Given the description of an element on the screen output the (x, y) to click on. 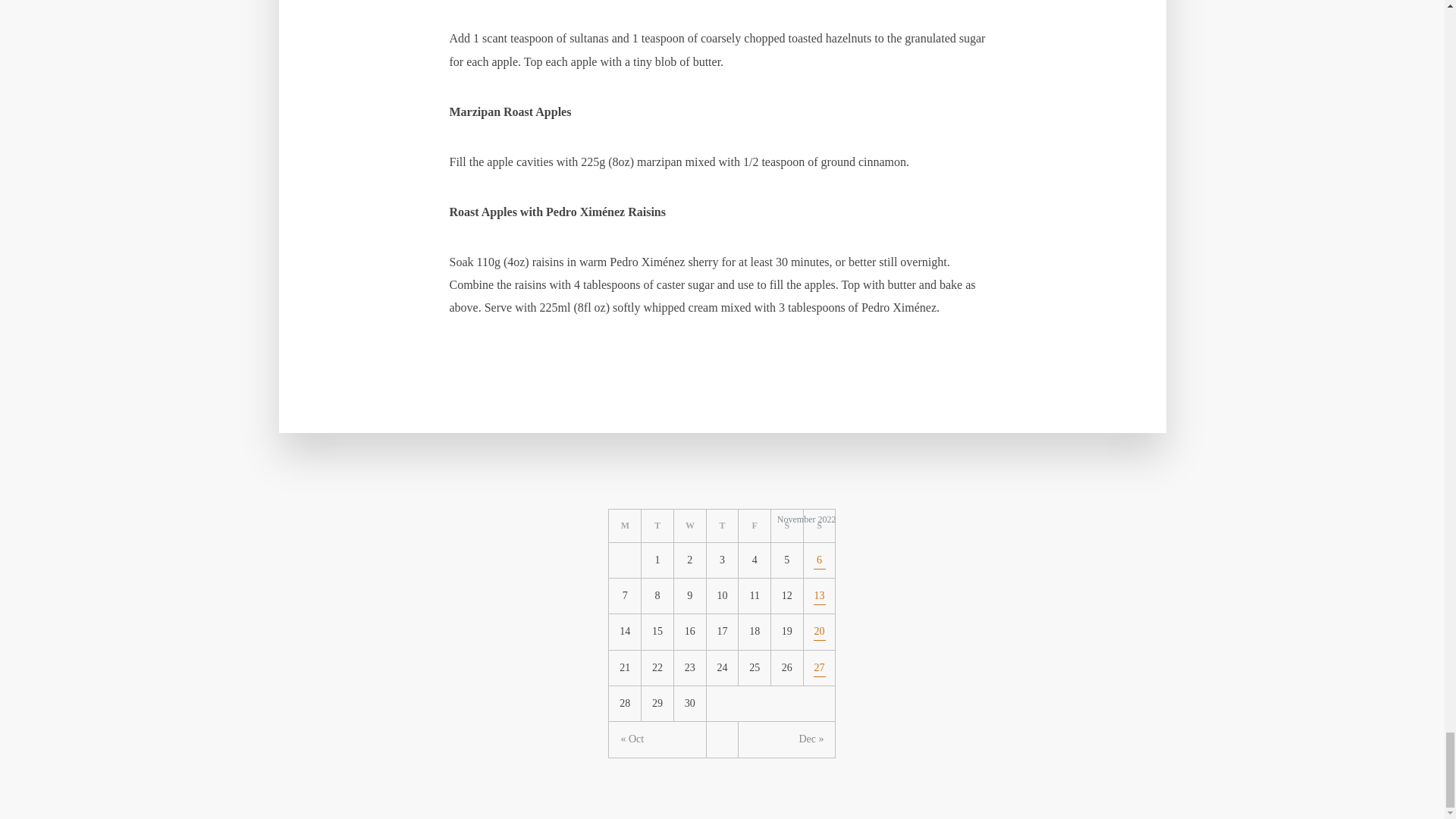
Sunday (819, 525)
Saturday (787, 525)
Monday (625, 525)
Friday (754, 525)
Thursday (722, 525)
Wednesday (690, 525)
Tuesday (658, 525)
